Given the description of an element on the screen output the (x, y) to click on. 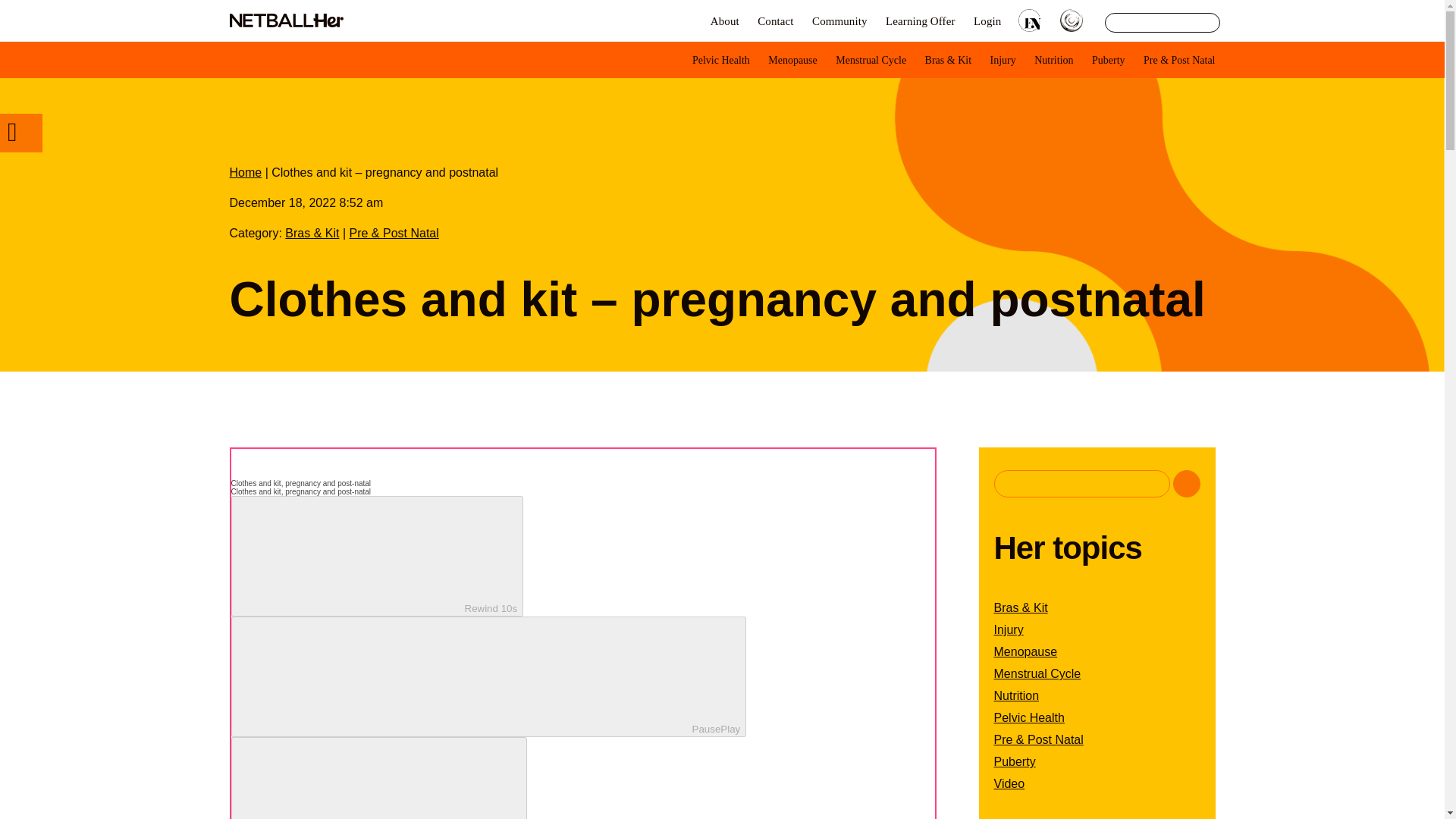
Login (987, 21)
About (724, 21)
Accessibility (21, 132)
Community (839, 21)
Puberty (1108, 60)
Contact (775, 21)
Menopause (792, 60)
Menstrual Cycle (870, 60)
Injury (1003, 60)
